Given the description of an element on the screen output the (x, y) to click on. 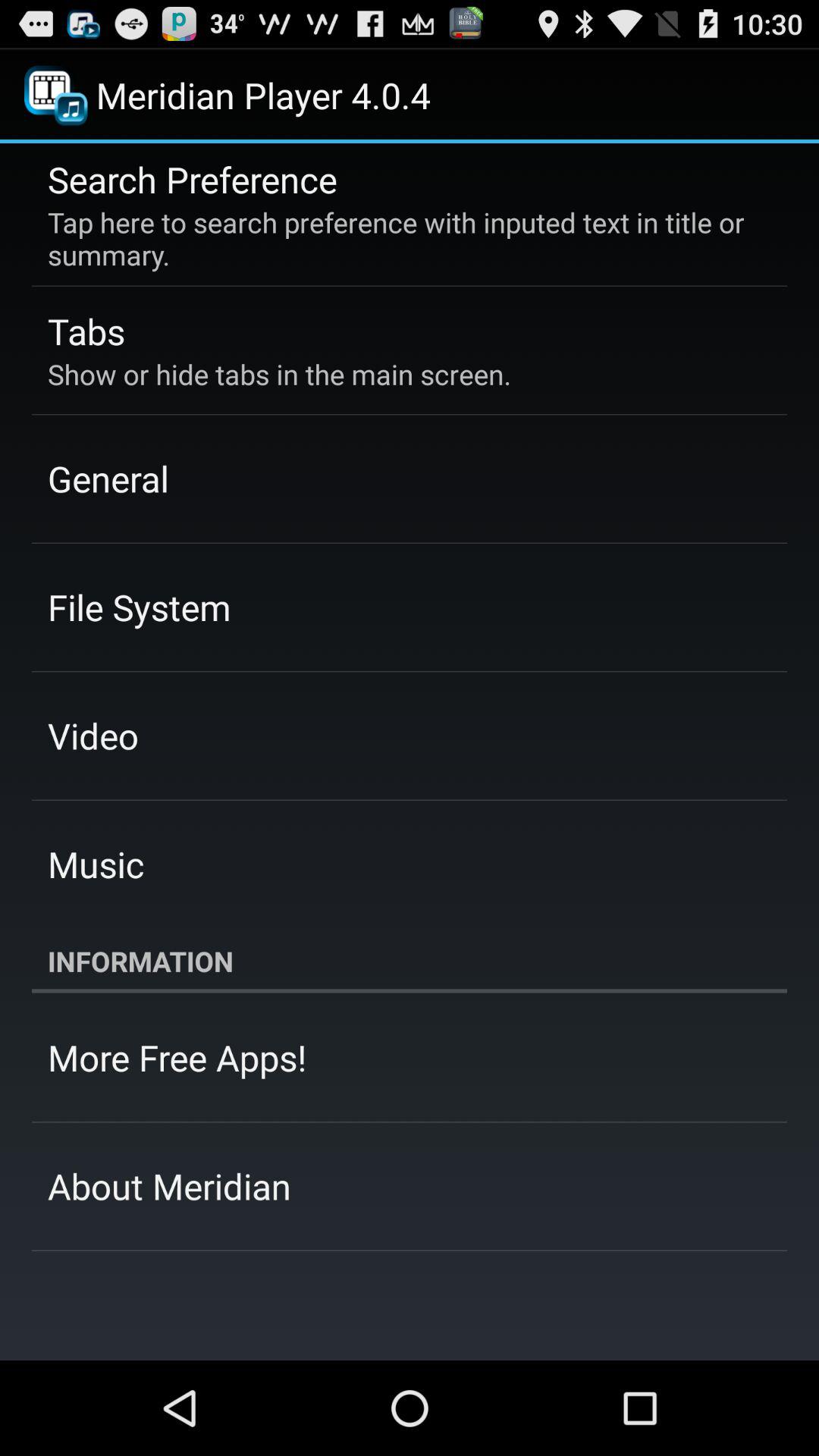
open the app above about meridian (176, 1057)
